Given the description of an element on the screen output the (x, y) to click on. 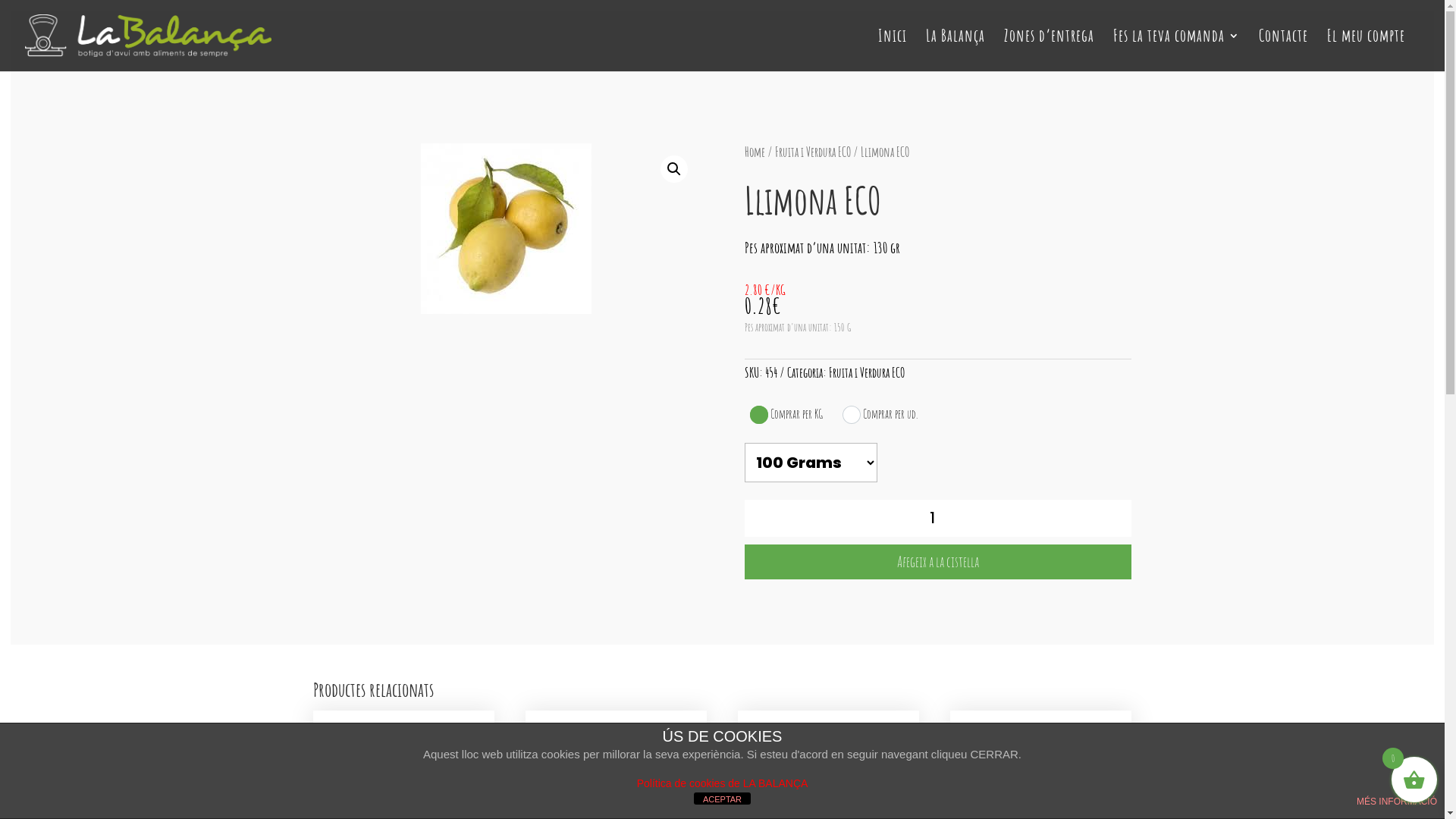
Fes la teva comanda Element type: text (1176, 50)
Afegeix a la cistella Element type: text (937, 561)
El meu compte Element type: text (1366, 50)
Inici Element type: text (892, 50)
454- llimona Element type: hover (505, 228)
Home Element type: text (754, 151)
Contacte Element type: text (1283, 50)
Fruita i Verdura ECO Element type: text (812, 151)
ACEPTAR Element type: text (721, 798)
Fruita i Verdura ECO Element type: text (866, 372)
